Given the description of an element on the screen output the (x, y) to click on. 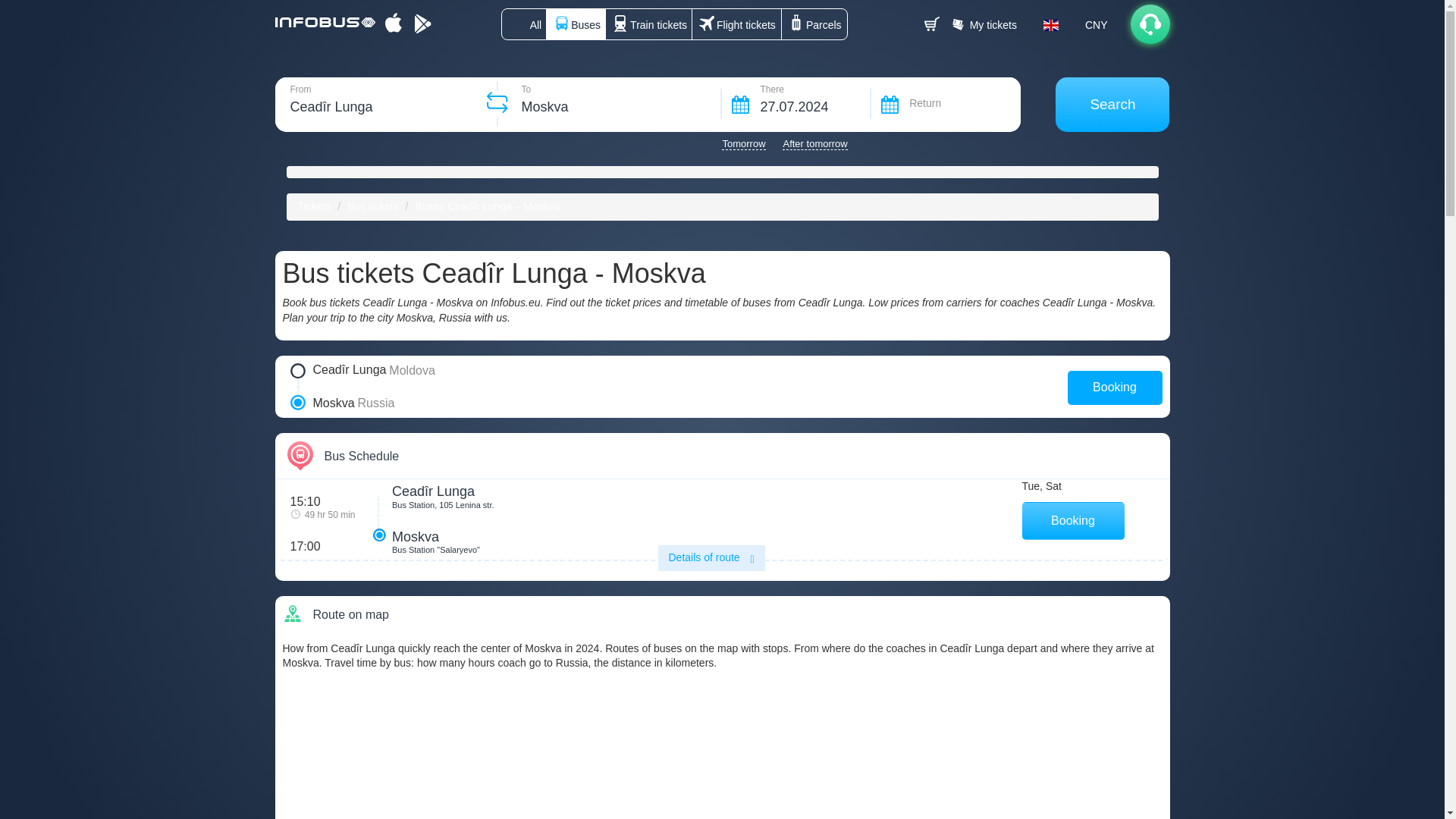
Moskva (609, 103)
Bus tickets (372, 205)
INFOBUS (326, 19)
INFOBUS (313, 205)
27.07.2024 (796, 103)
Google Play (422, 23)
Moskva (609, 103)
27.07.2024 (796, 103)
My tickets (985, 23)
Apple Store (393, 23)
